Given the description of an element on the screen output the (x, y) to click on. 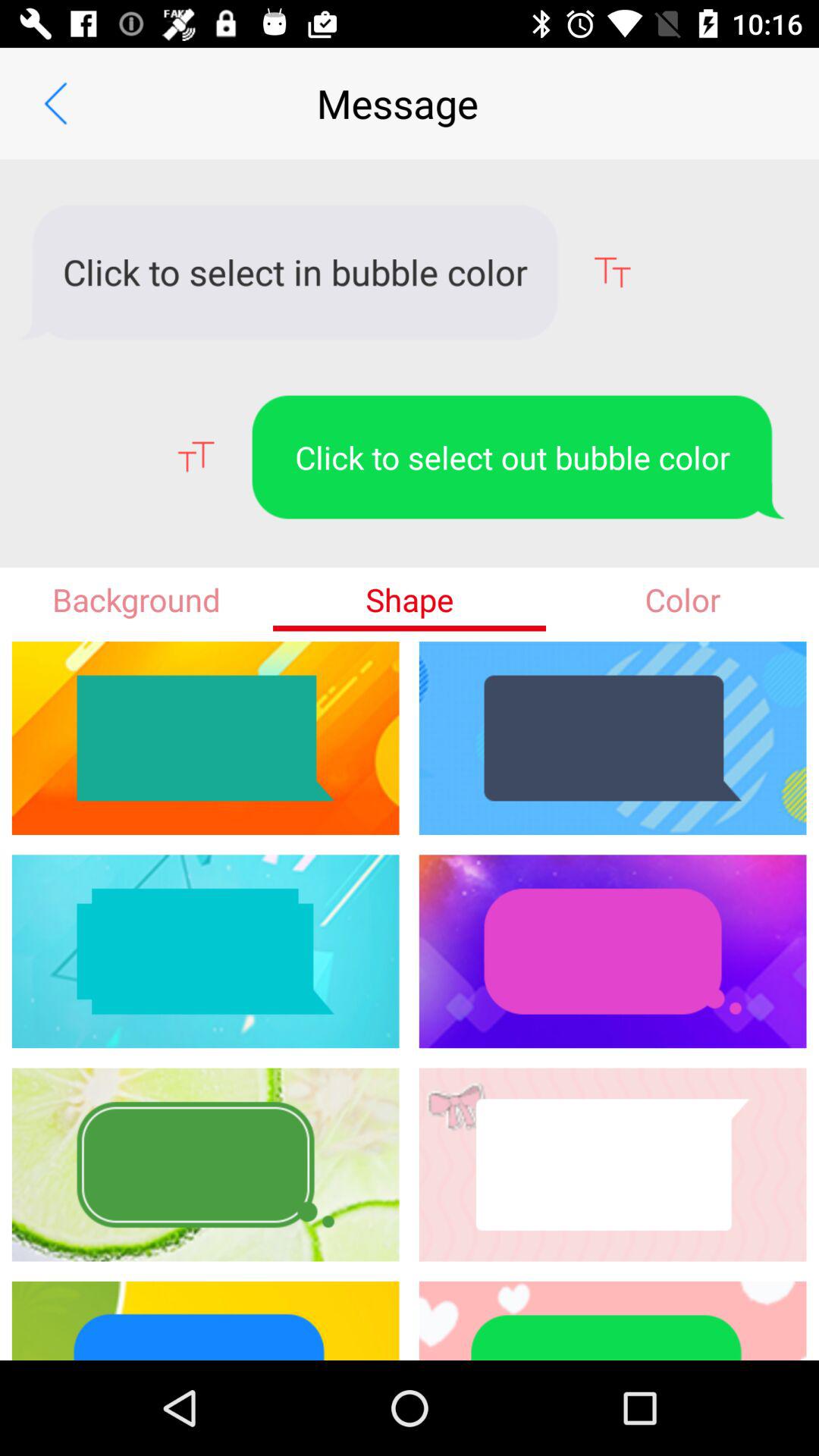
press item next to message app (55, 103)
